Given the description of an element on the screen output the (x, y) to click on. 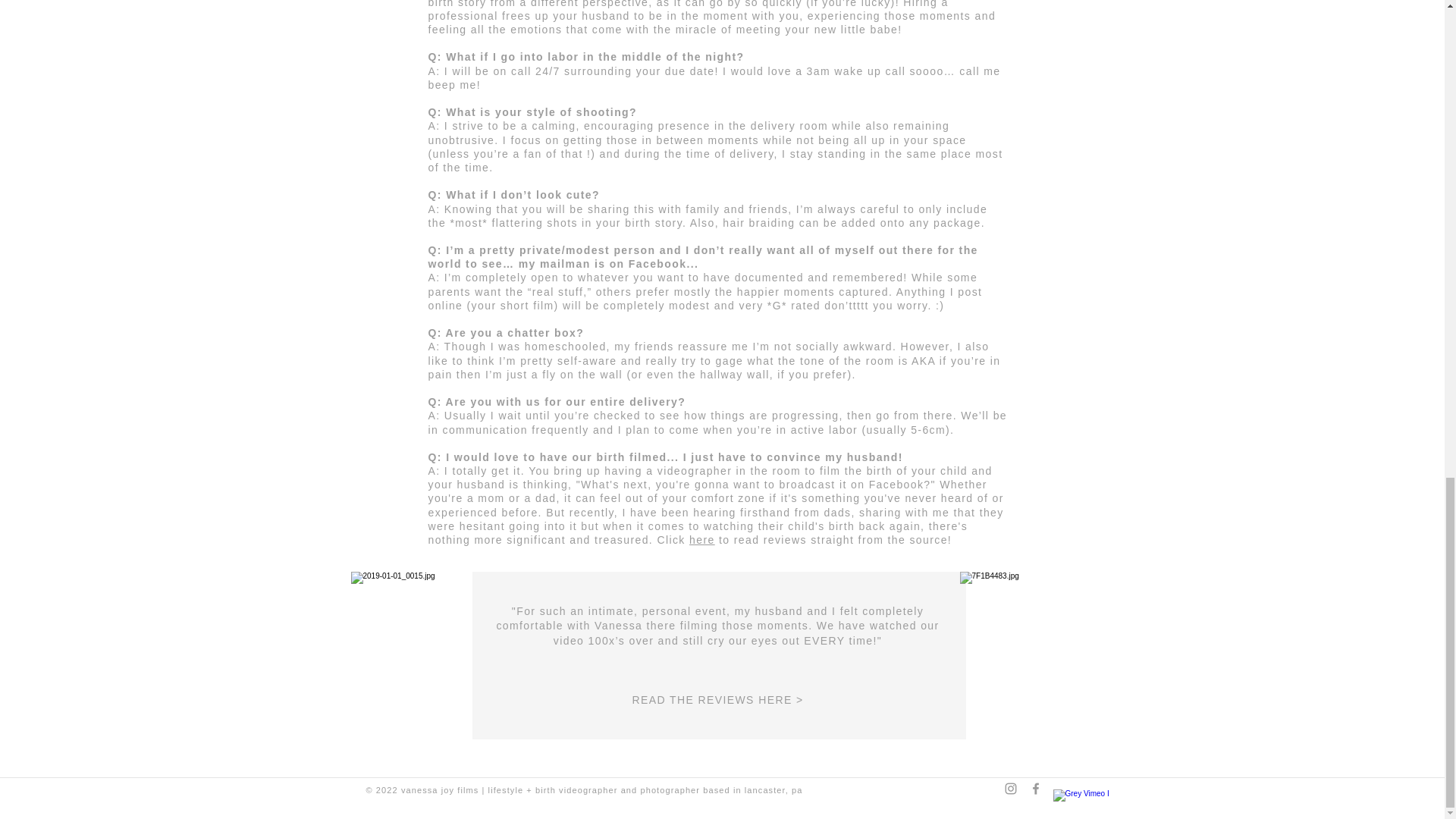
to read reviews straight from the source! (833, 539)
Click (672, 539)
here (701, 539)
